Given the description of an element on the screen output the (x, y) to click on. 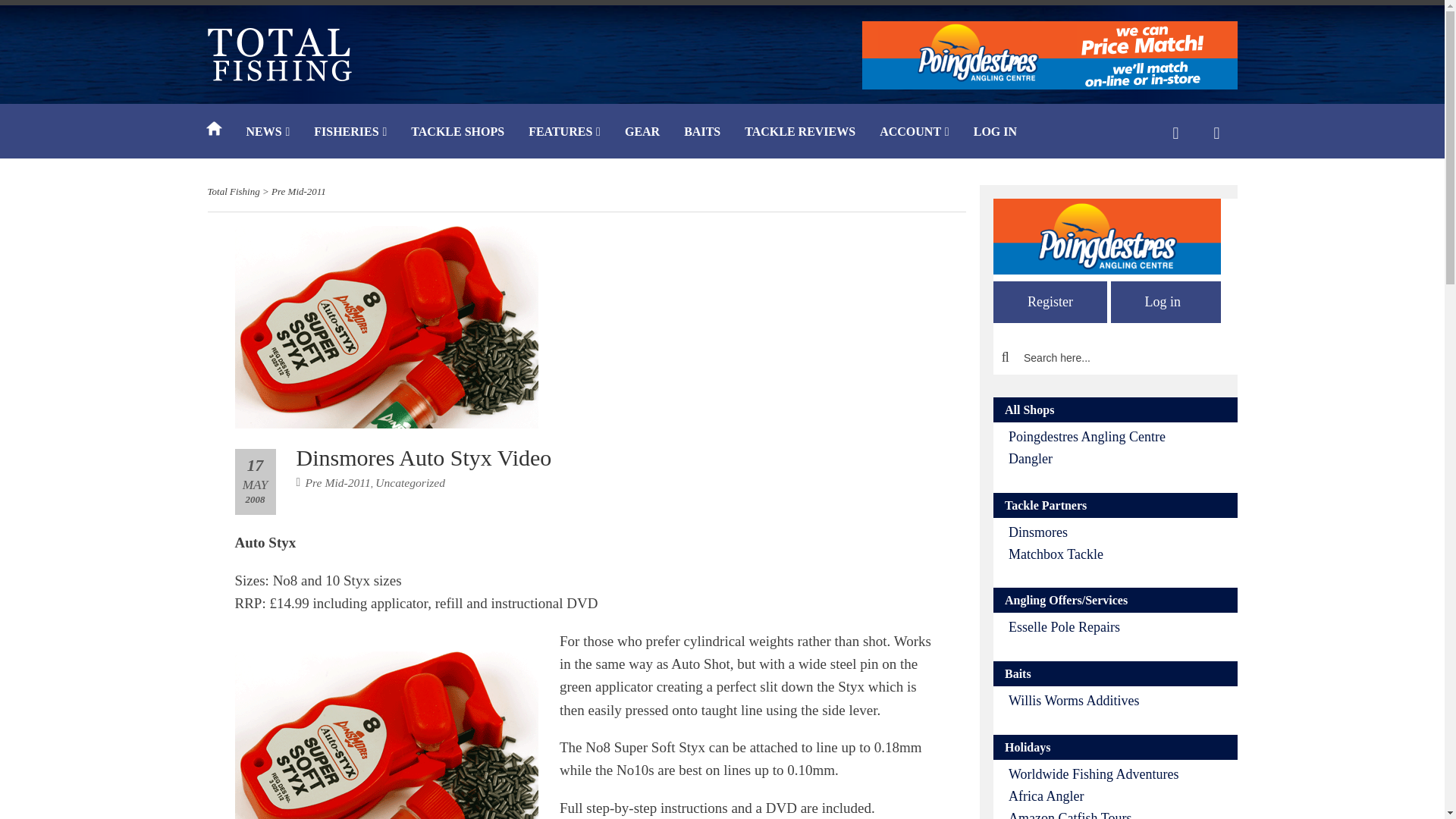
FISHERIES (349, 133)
facebook (924, 708)
TACKLE REVIEWS (799, 133)
NEWS (266, 133)
Go to the Pre Mid-2011 Category archives. (298, 191)
BAITS (701, 133)
ACCOUNT (913, 133)
FEATURES (564, 133)
TACKLE SHOPS (457, 133)
pinterest (958, 708)
Total Fishing (234, 191)
linkedin (1026, 708)
Go to Total Fishing. (234, 191)
LOG IN (994, 133)
GEAR (641, 133)
